Given the description of an element on the screen output the (x, y) to click on. 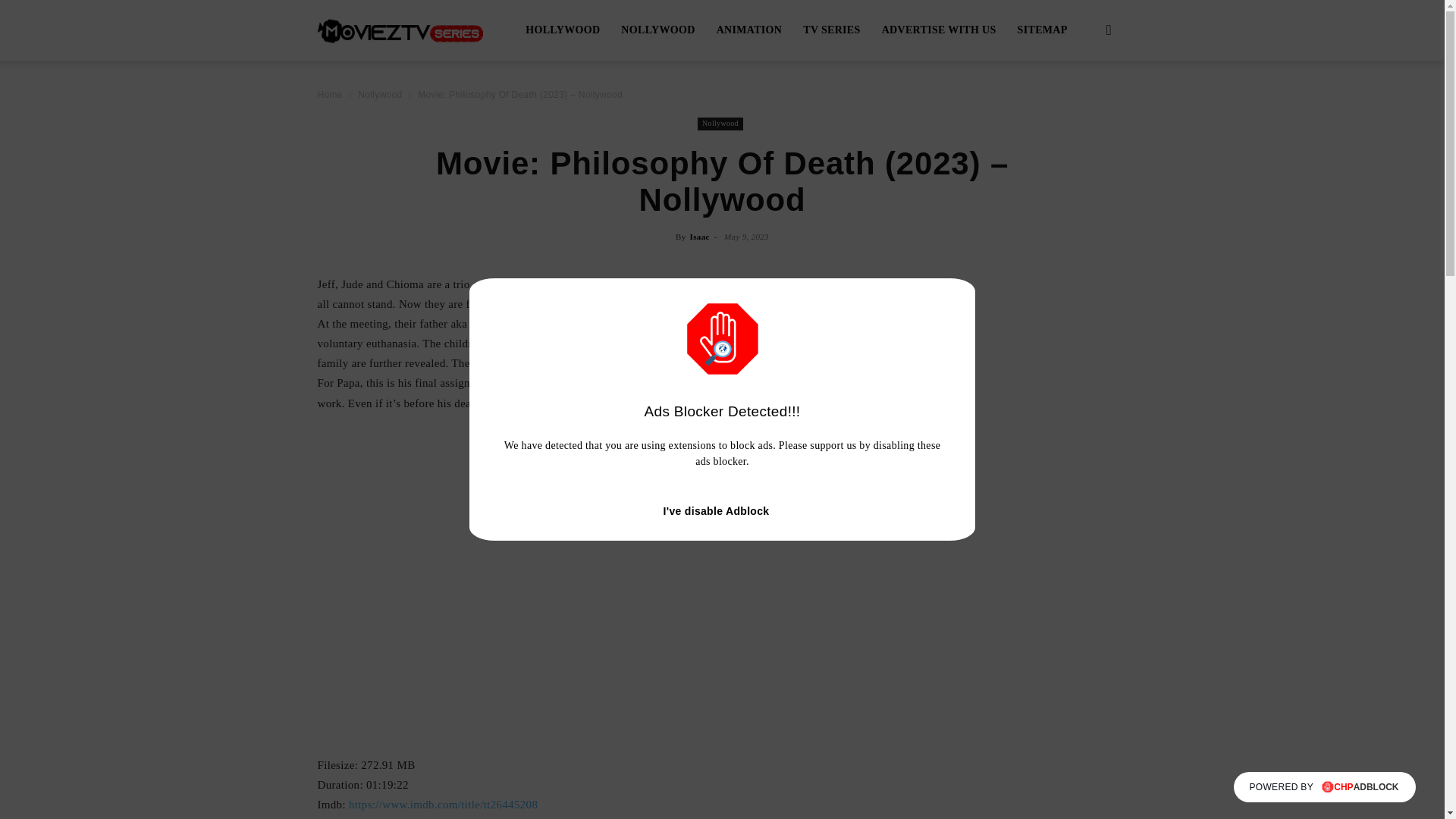
MoviezTVseries (400, 30)
View all posts in Nollywood (379, 94)
Nollywood (379, 94)
NOLLYWOOD (657, 30)
ADVERTISE WITH US (938, 30)
Home (329, 94)
Nollywood (719, 123)
ANIMATION (749, 30)
SITEMAP (1042, 30)
HOLLYWOOD (562, 30)
